Given the description of an element on the screen output the (x, y) to click on. 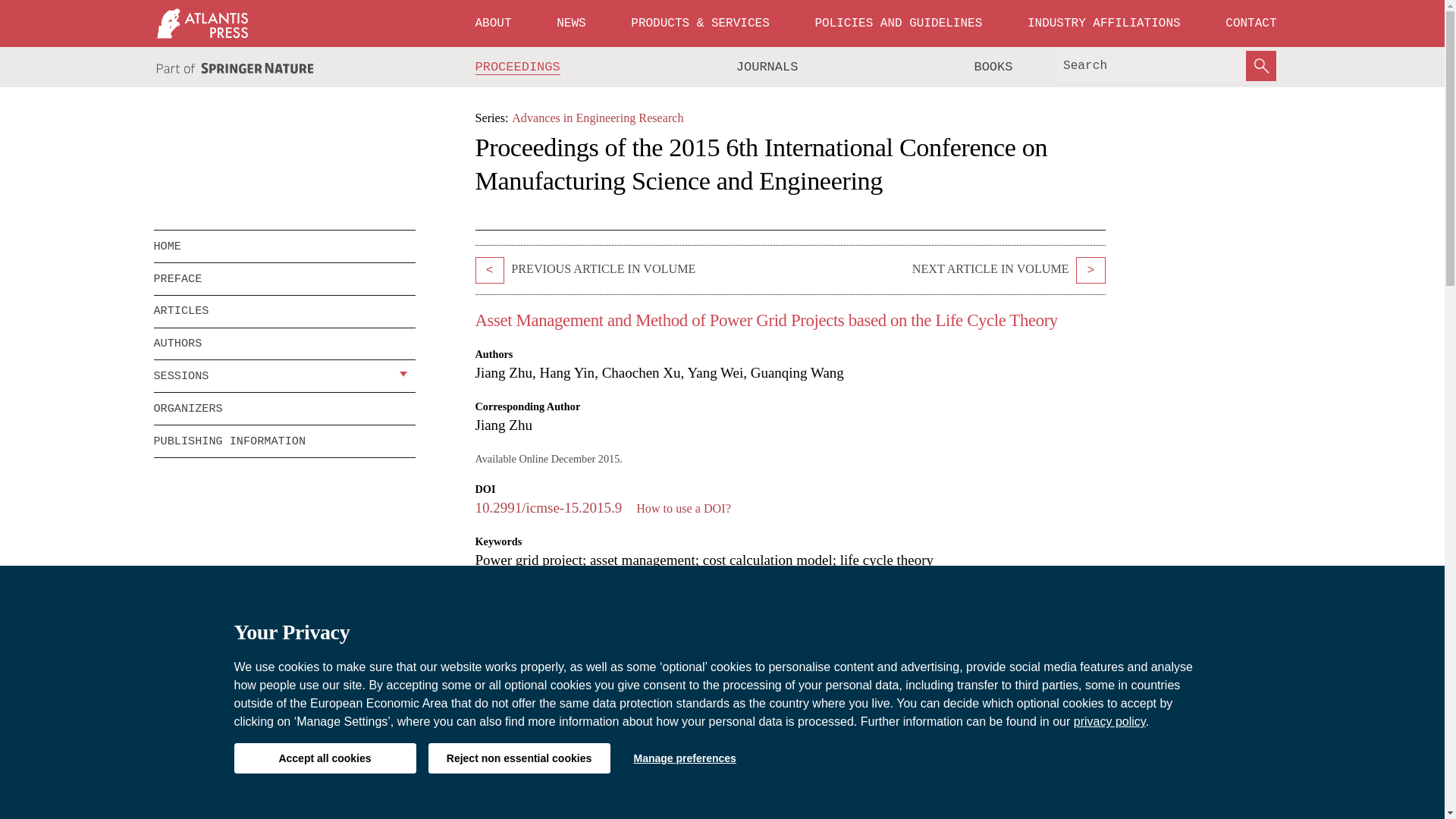
PREFACE (283, 278)
ABOUT (493, 23)
Advances in Engineering Research (597, 117)
Accept all cookies (323, 757)
ARTICLES (283, 311)
Atlantis Press (201, 23)
JOURNALS (767, 66)
NEWS (570, 23)
BOOKS (992, 66)
